Given the description of an element on the screen output the (x, y) to click on. 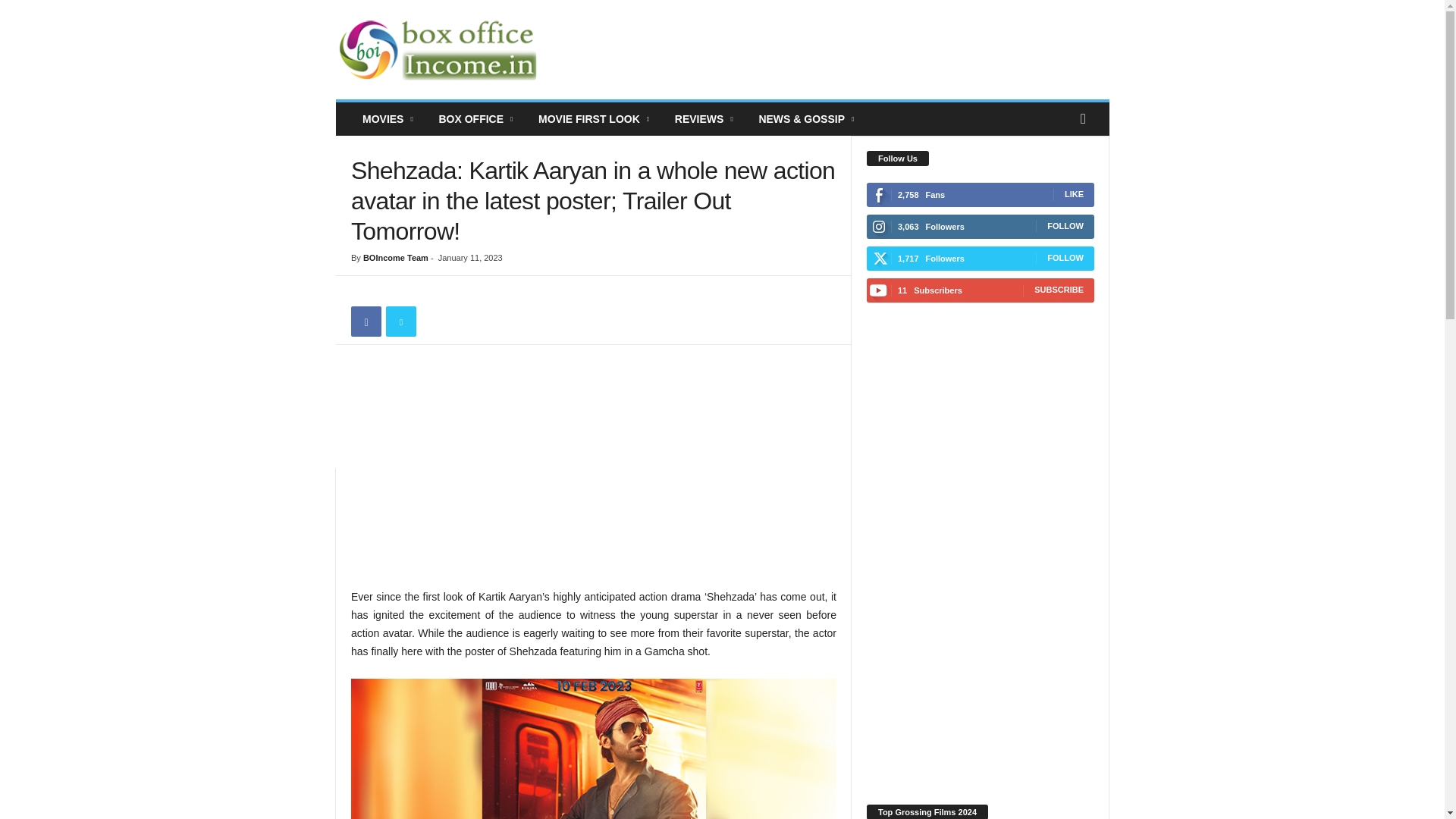
topFacebookLike (390, 291)
Advertisement (592, 473)
MOVIE FIRST LOOK (595, 118)
Advertisement (833, 49)
REVIEWS (705, 118)
Twitter (400, 321)
BOX OFFICE (476, 118)
MOVIES (388, 118)
Facebook (365, 321)
